Given the description of an element on the screen output the (x, y) to click on. 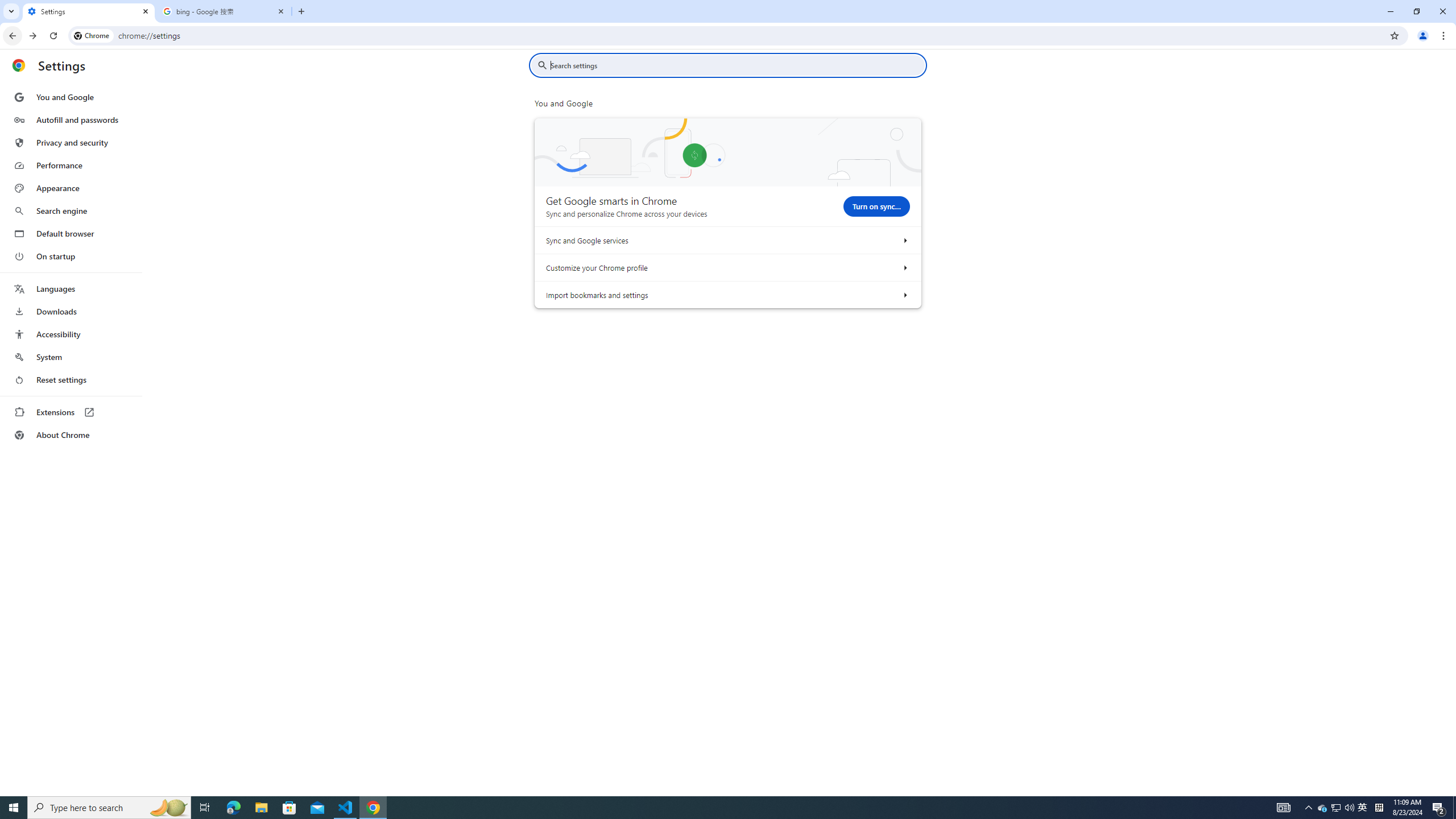
Downloads (70, 311)
Accessibility (70, 333)
AutomationID: menu (71, 265)
Search engine (70, 210)
